Given the description of an element on the screen output the (x, y) to click on. 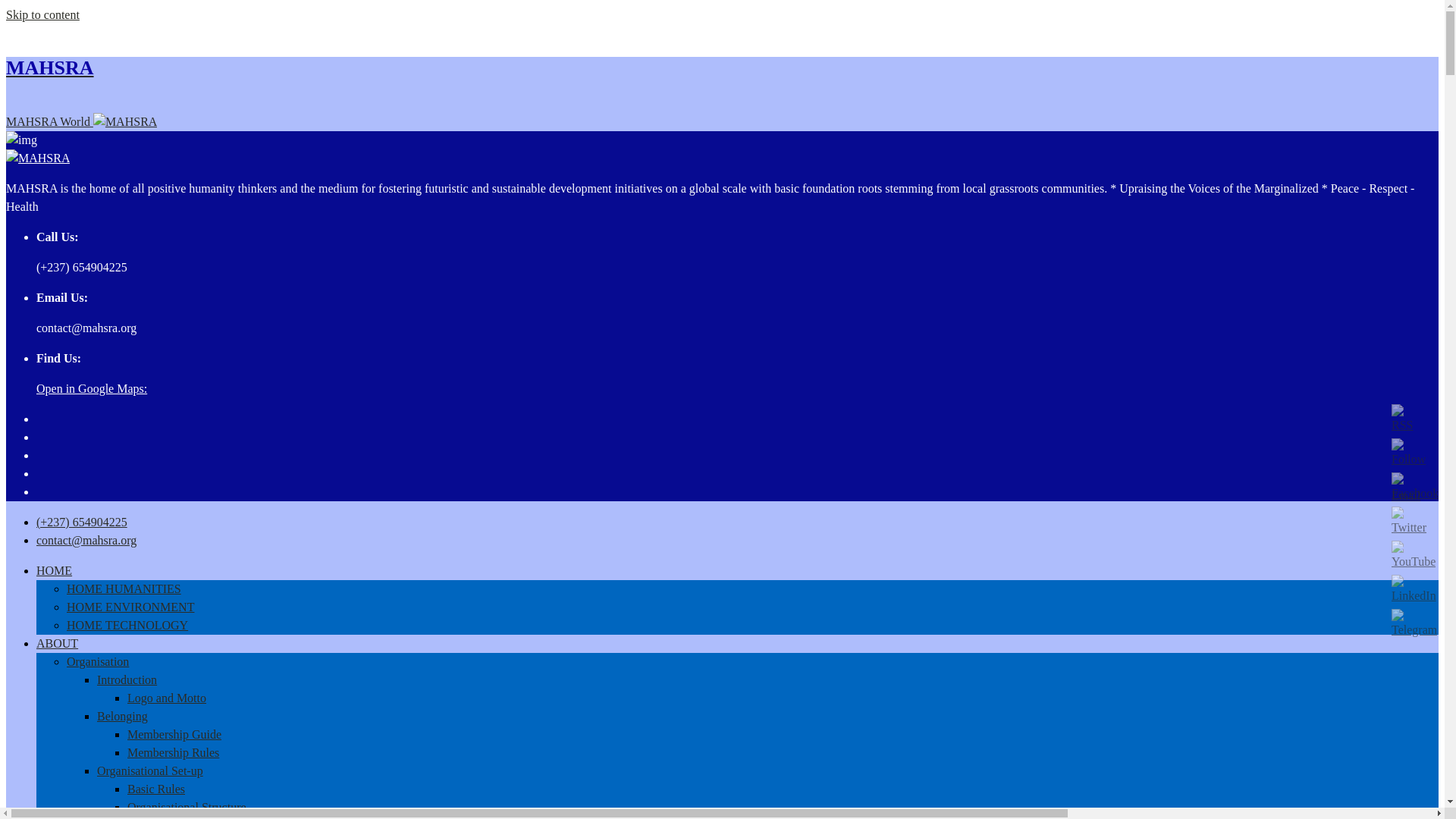
HOME HUMANITIES (123, 588)
Organisation (97, 661)
Membership Rules (173, 752)
Introduction (127, 679)
HOME TECHNOLOGY (126, 625)
Basic Rules (156, 788)
HOME ENVIRONMENT (129, 606)
Logo and Motto (167, 697)
Organisational Set-up (150, 770)
ABOUT (57, 643)
